Given the description of an element on the screen output the (x, y) to click on. 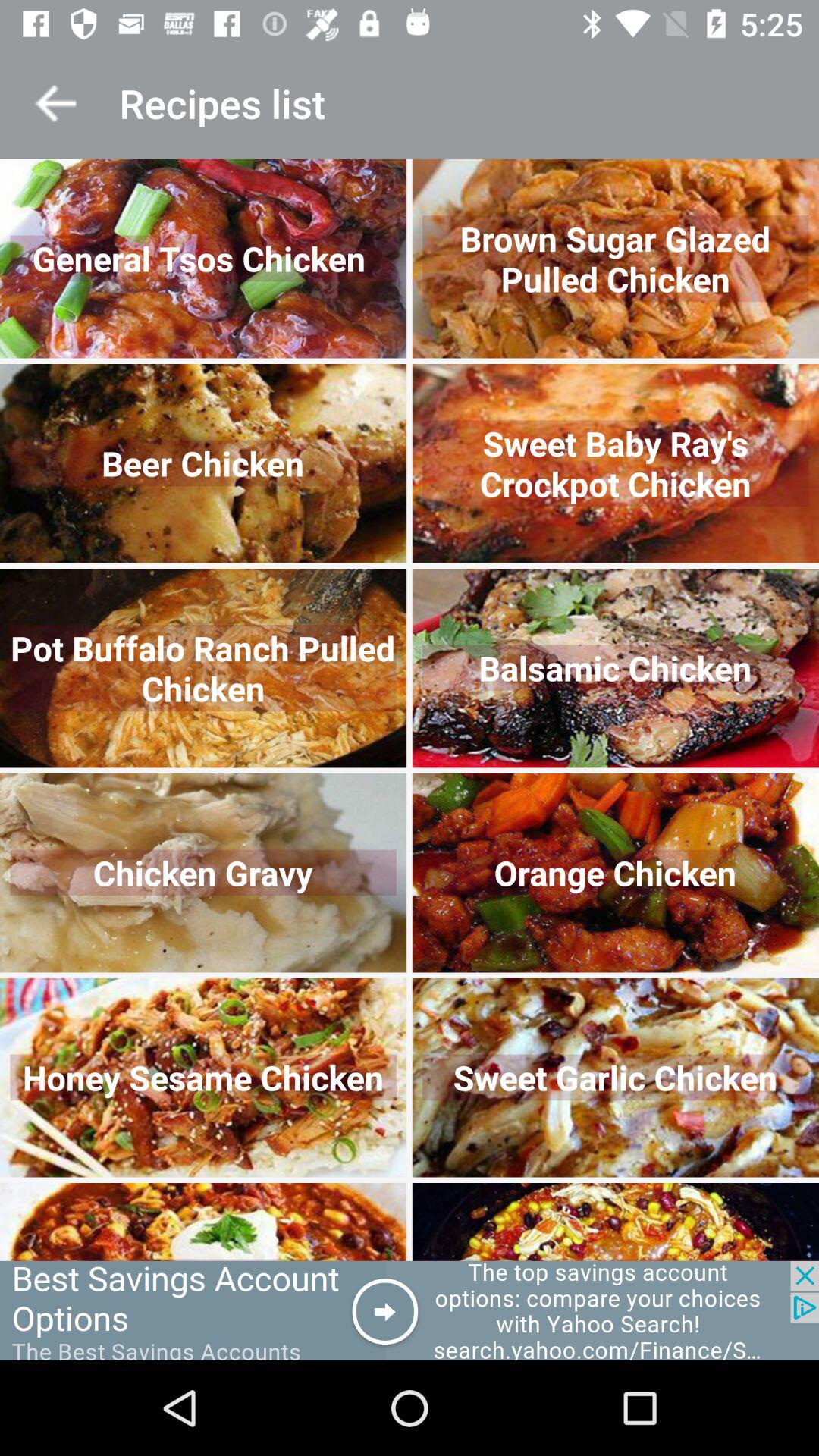
click on the second image in fifth row (615, 1077)
click on the image right to beer chicken (615, 463)
click on the second image in last row (615, 1221)
